Given the description of an element on the screen output the (x, y) to click on. 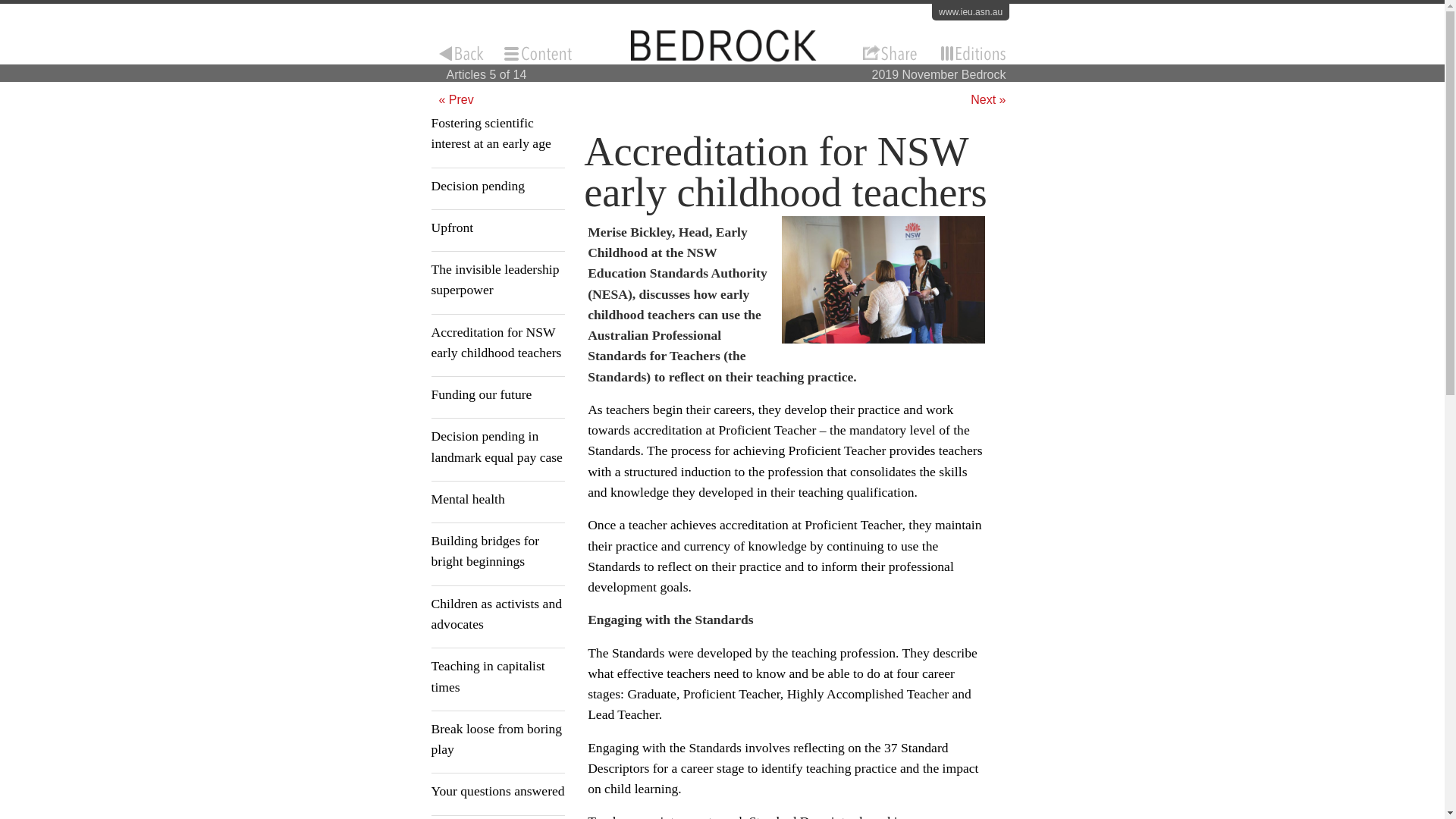
www.ieu.asn.au (970, 12)
